Given the description of an element on the screen output the (x, y) to click on. 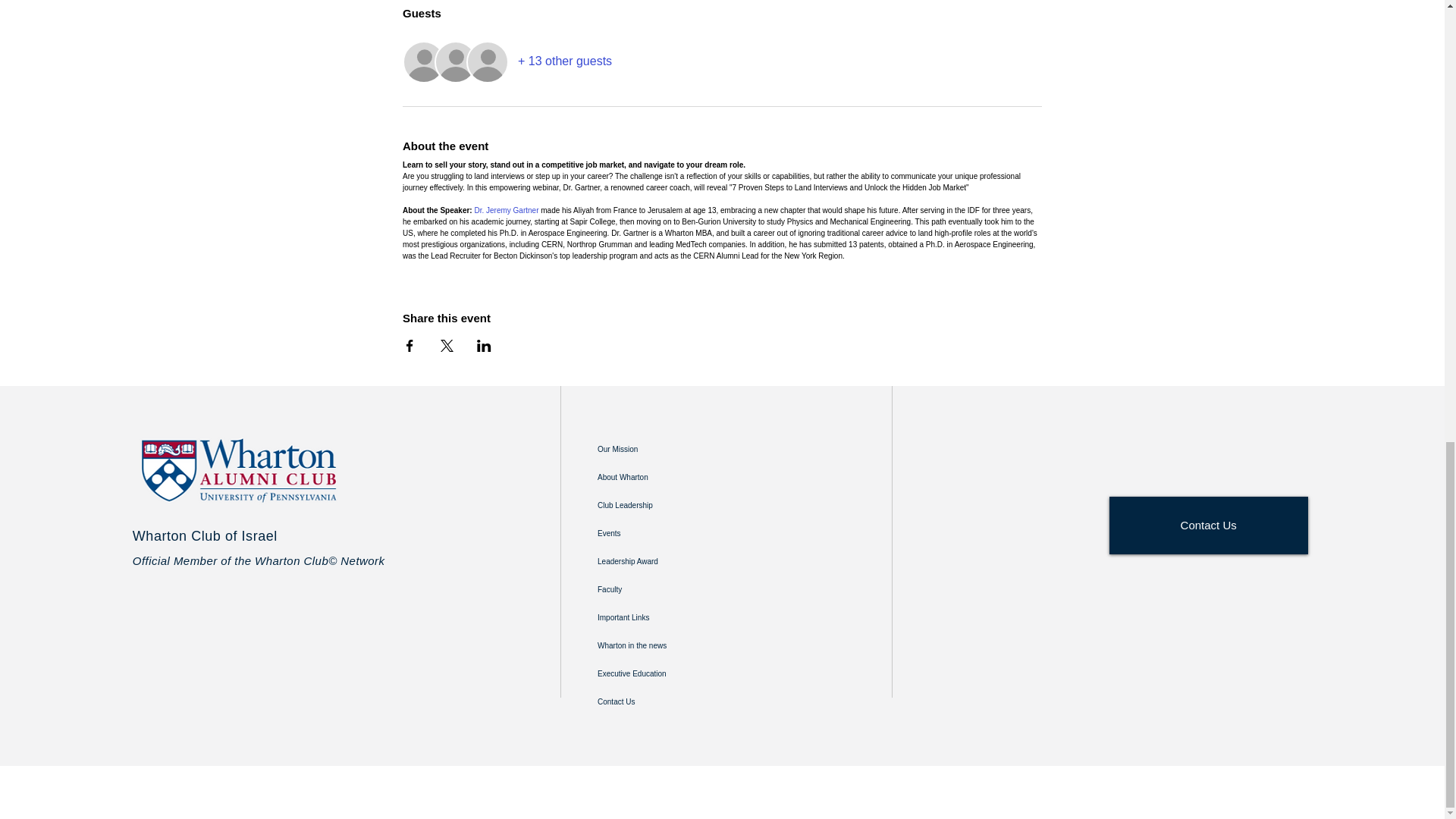
Executive Education (669, 673)
Faculty (669, 588)
Dr. Jeremy Gartner (506, 210)
Important Links (669, 617)
Events (669, 532)
About Wharton (669, 476)
Club Leadership (669, 505)
Contact Us (1208, 524)
Our Mission (669, 448)
Contact Us (669, 700)
